Given the description of an element on the screen output the (x, y) to click on. 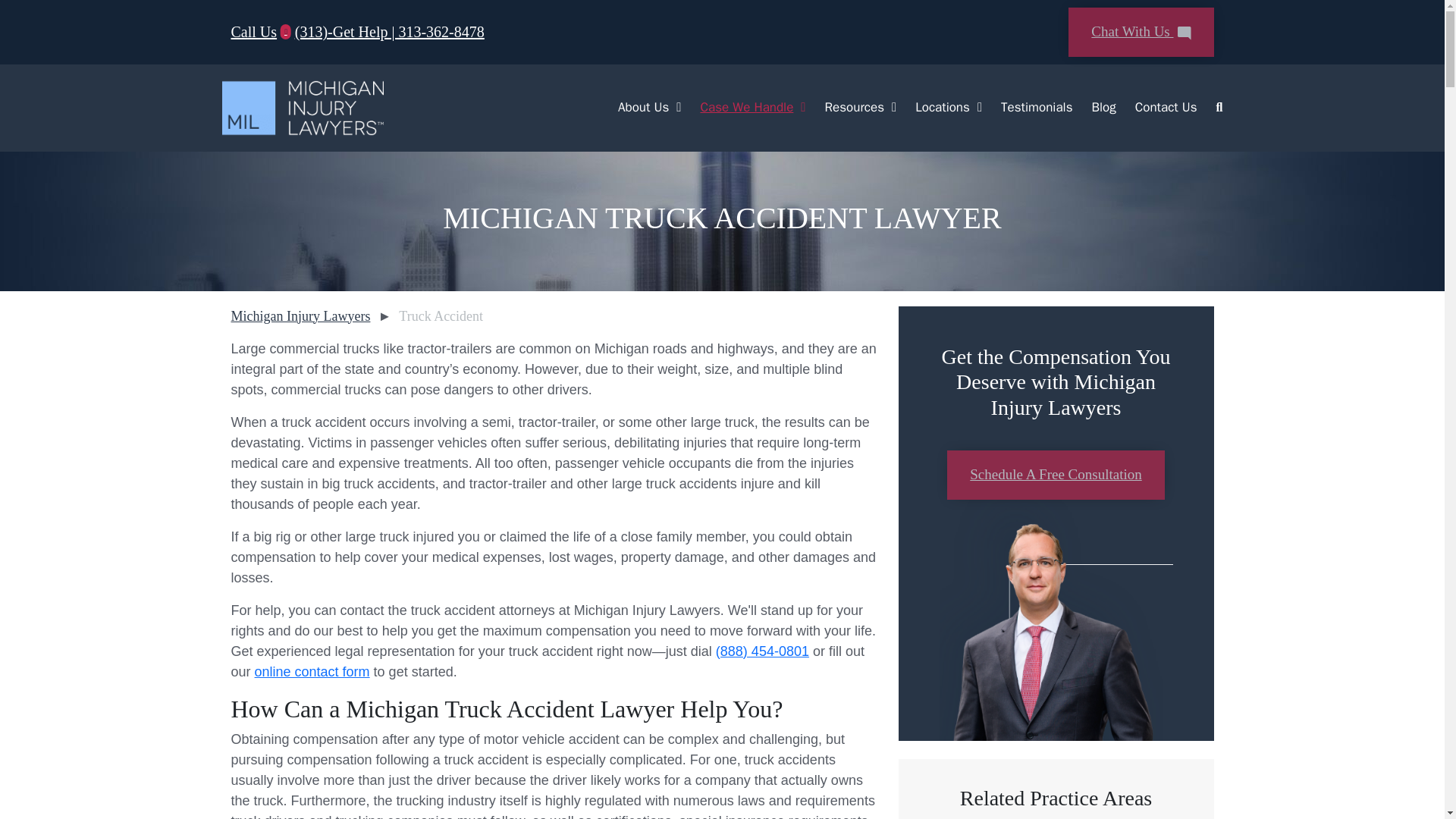
Chat With Us (1140, 31)
Chat With Us (1140, 31)
About Us (633, 107)
About Us (633, 107)
Resources (844, 107)
Case We Handle (737, 107)
Locations (932, 107)
